Given the description of an element on the screen output the (x, y) to click on. 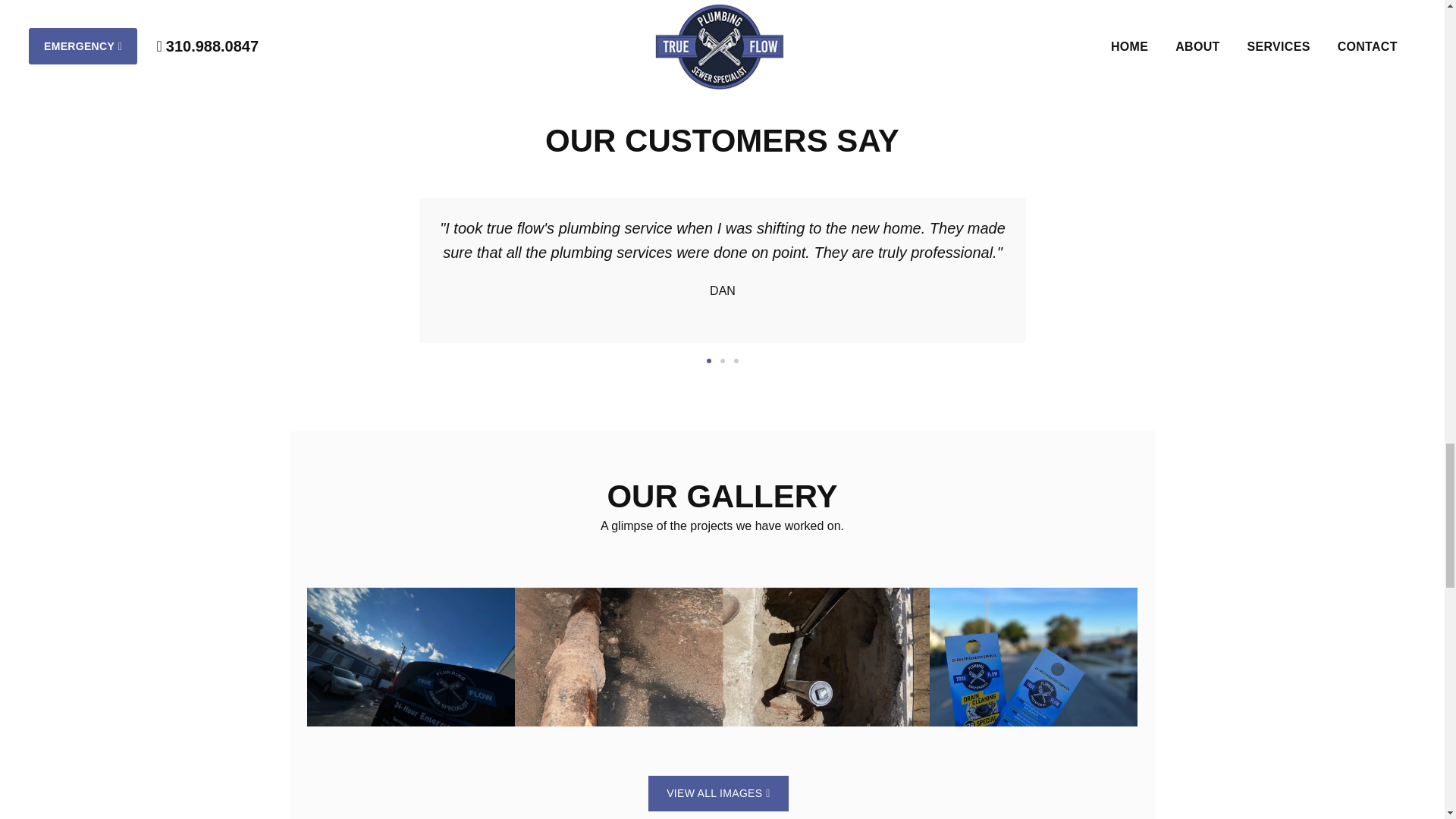
VIEW ALL IMAGES (718, 793)
